Given the description of an element on the screen output the (x, y) to click on. 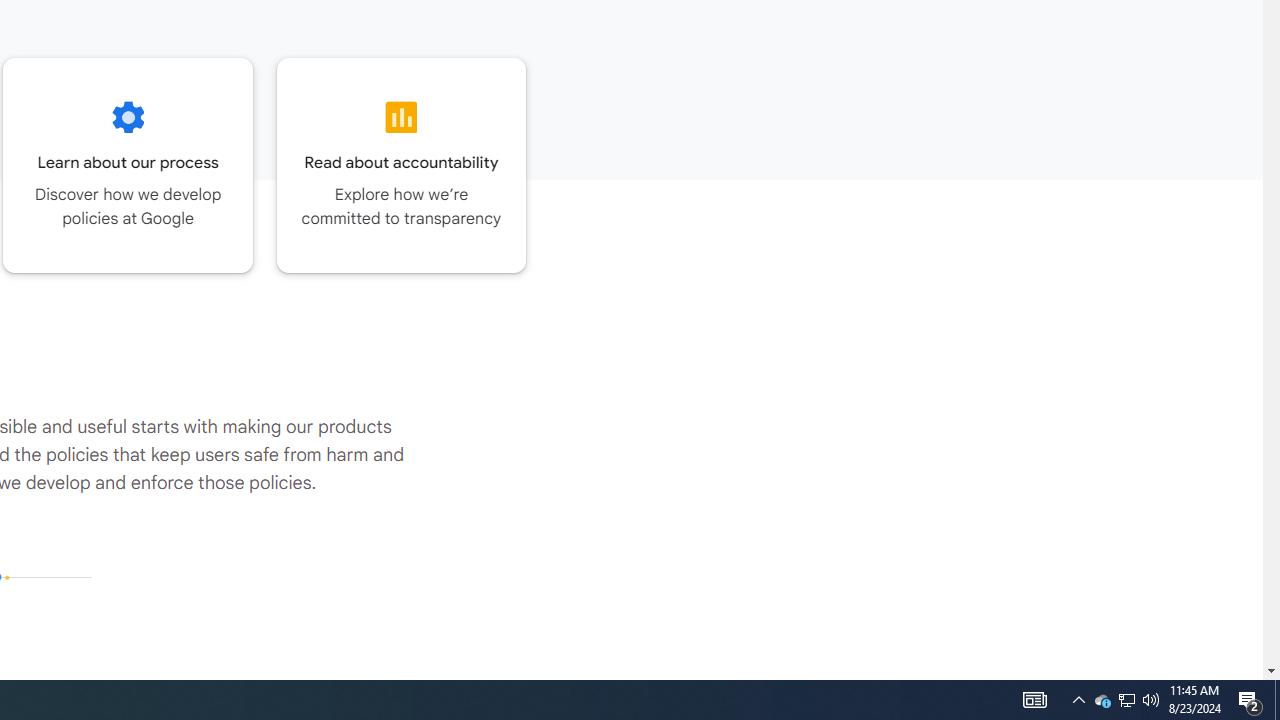
Go to the Our process page (127, 165)
Go to the Accountability page (401, 165)
